Given the description of an element on the screen output the (x, y) to click on. 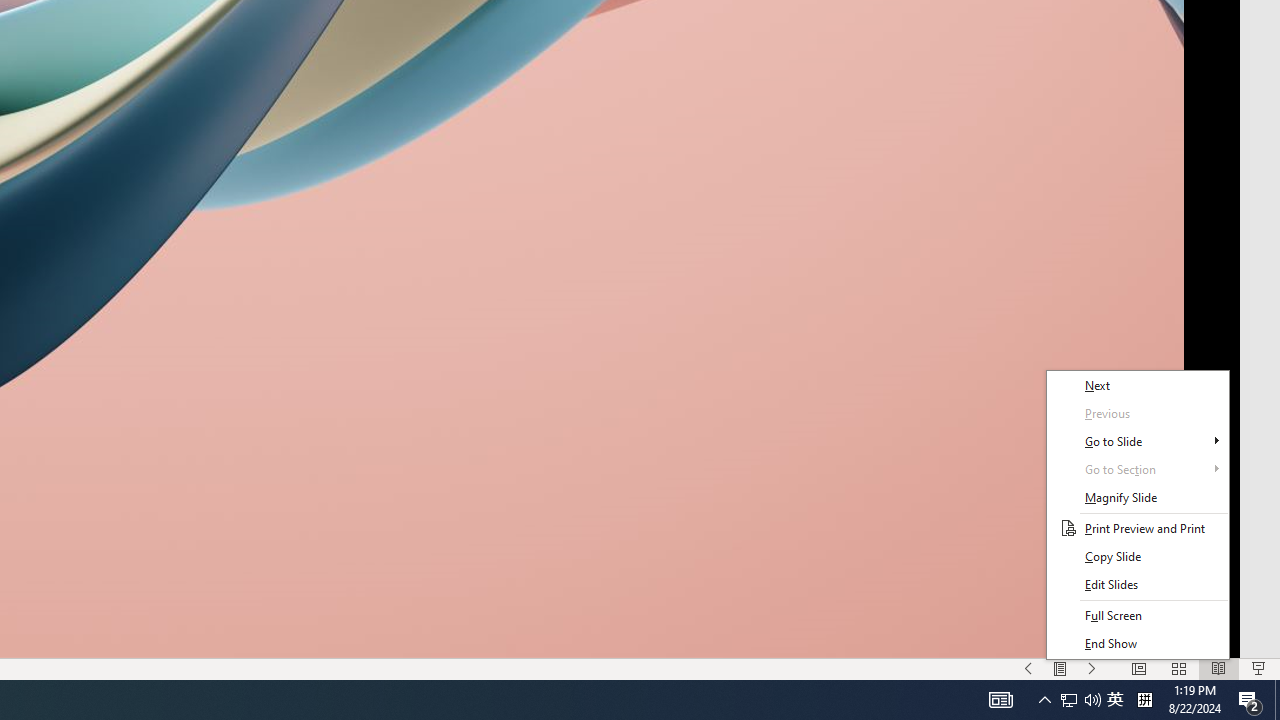
Go to Slide (1137, 441)
Class: NetUITWMenuContainer (1137, 515)
Full Screen (1137, 615)
Slide Show Previous On (1028, 668)
Go to Section (1137, 469)
End Show (1137, 644)
Print Preview and Print (1137, 528)
